Given the description of an element on the screen output the (x, y) to click on. 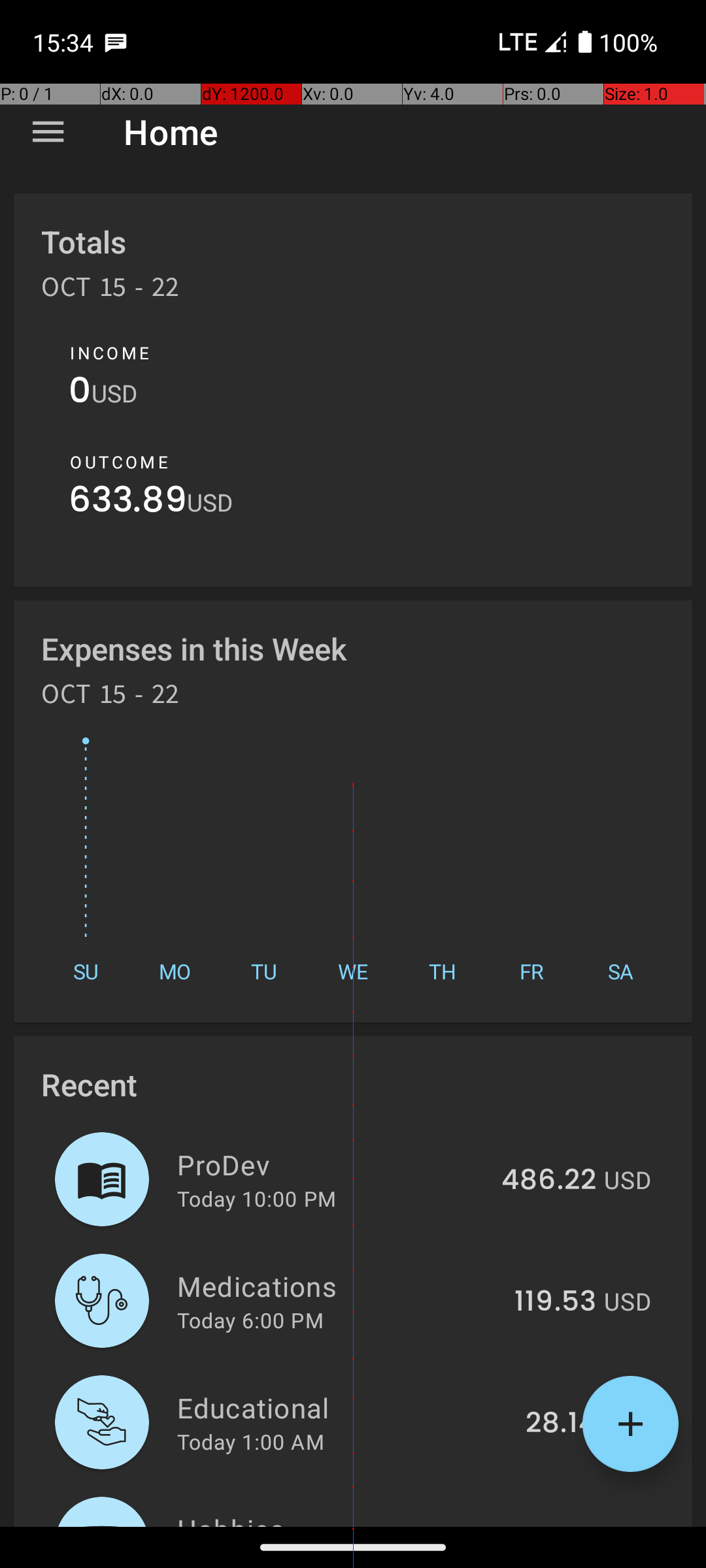
633.89 Element type: android.widget.TextView (127, 502)
ProDev Element type: android.widget.TextView (331, 1164)
486.22 Element type: android.widget.TextView (548, 1180)
Medications Element type: android.widget.TextView (338, 1285)
119.53 Element type: android.widget.TextView (554, 1301)
Educational Element type: android.widget.TextView (343, 1407)
Today 1:00 AM Element type: android.widget.TextView (250, 1441)
28.14 Element type: android.widget.TextView (560, 1423)
Hobbies Element type: android.widget.TextView (333, 1518)
445.01 Element type: android.widget.TextView (550, 1524)
SMS Messenger notification: Juan Alves Element type: android.widget.ImageView (115, 41)
